Given the description of an element on the screen output the (x, y) to click on. 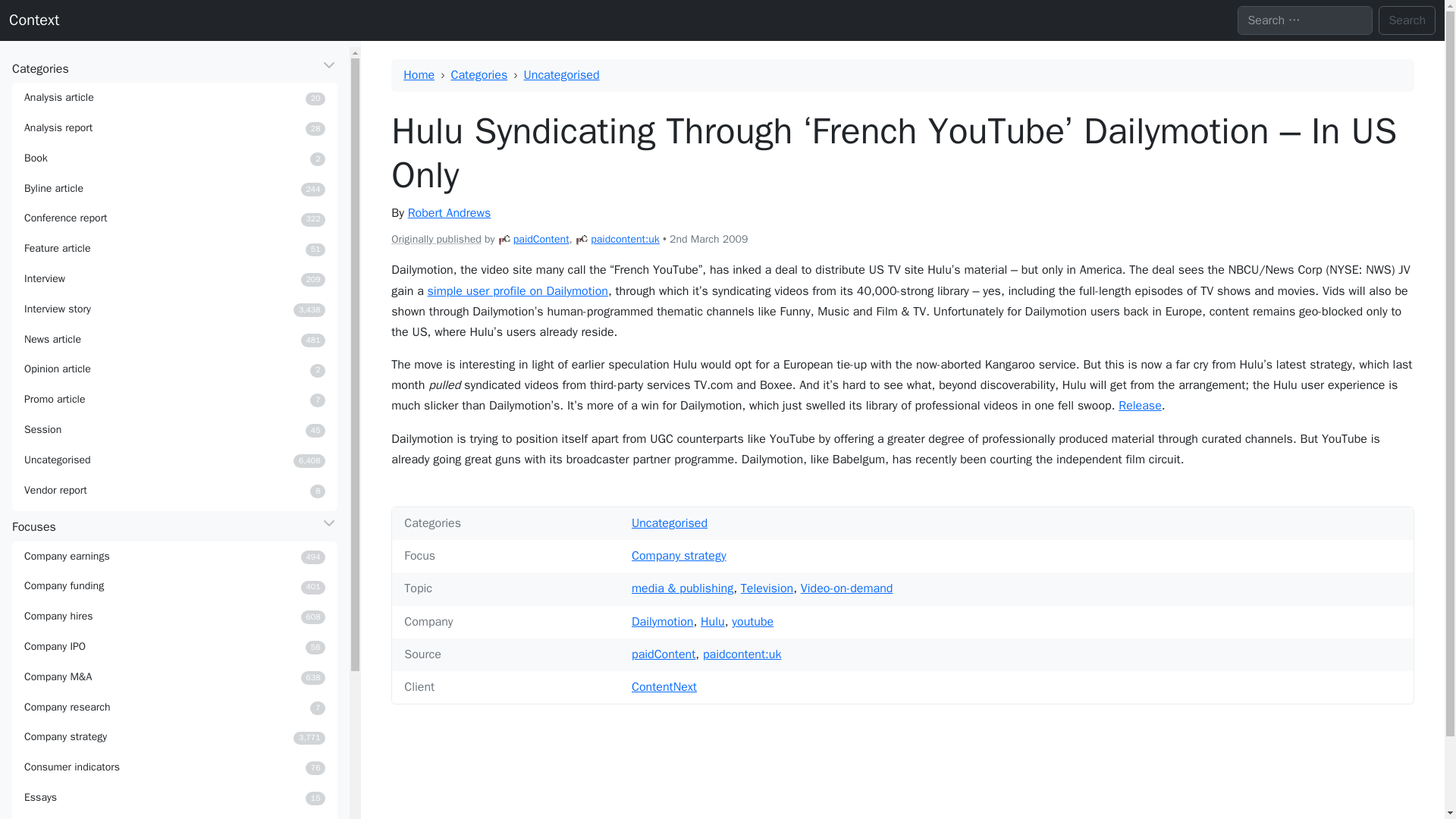
View all posts in paidcontent:uk (174, 399)
Search (174, 188)
2nd March 2009 (174, 218)
Context (174, 278)
Release (625, 238)
